Given the description of an element on the screen output the (x, y) to click on. 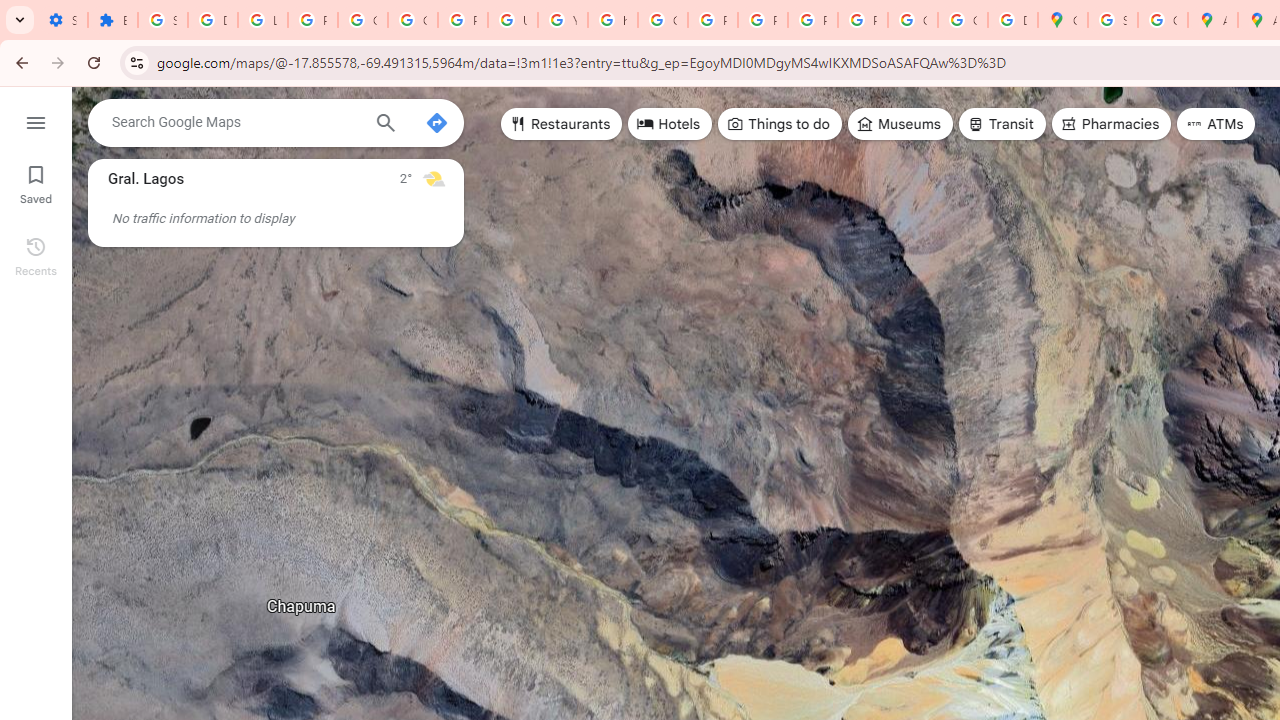
Restaurants (561, 124)
Create your Google Account (1162, 20)
Search Google Maps (235, 121)
Directions (436, 122)
Transit (1001, 124)
Menu (35, 120)
Delete photos & videos - Computer - Google Photos Help (213, 20)
Settings - On startup (62, 20)
